Given the description of an element on the screen output the (x, y) to click on. 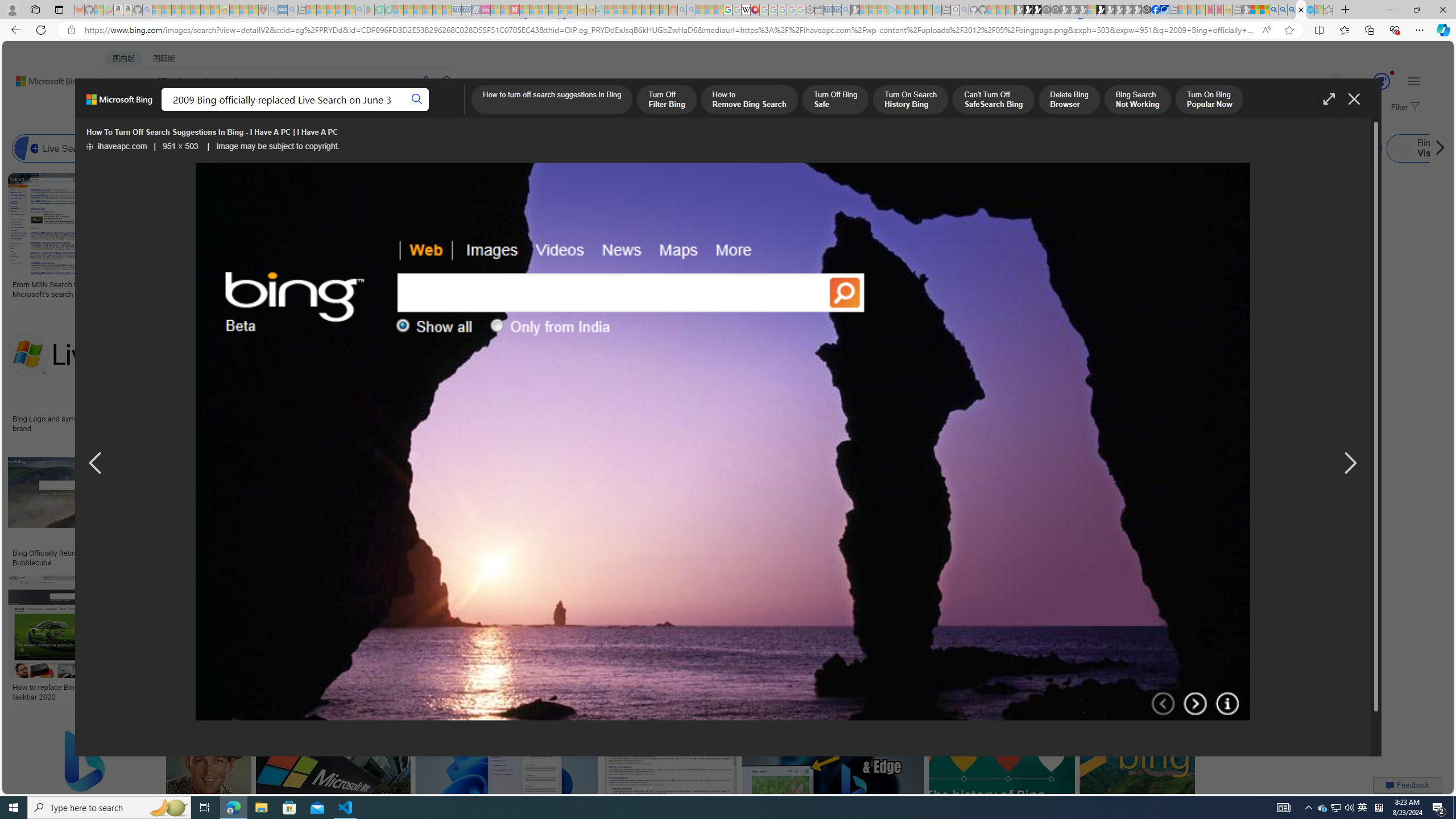
Filter (1403, 107)
Bing: rebranding search: idsgn (a design blog)Save (701, 237)
Turn On Search History Bing (909, 100)
Dropdown Menu (451, 111)
WEB (114, 111)
utah sues federal government - Search - Sleeping (291, 9)
Previous image result (95, 463)
Settings - Sleeping (809, 9)
